Given the description of an element on the screen output the (x, y) to click on. 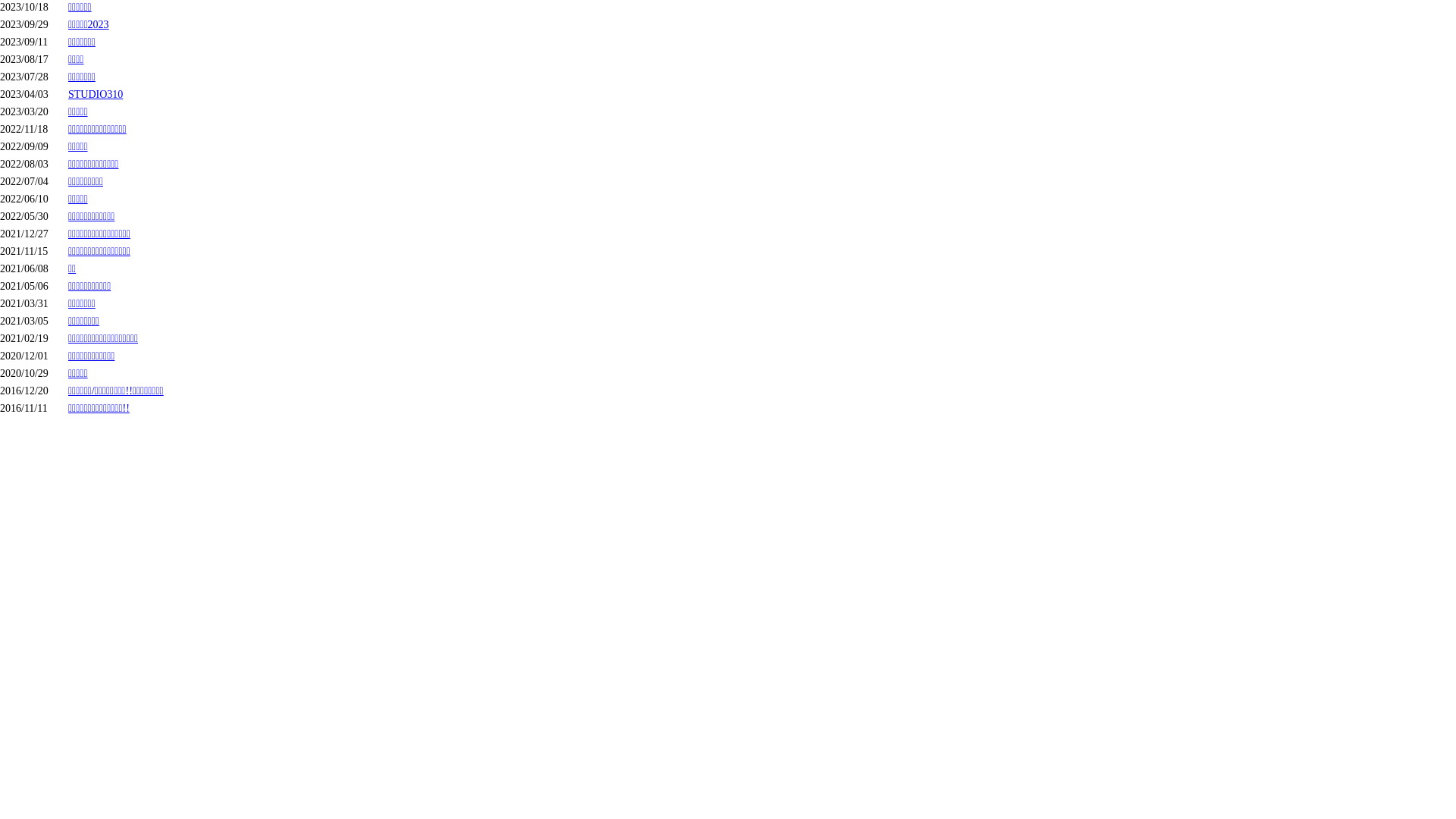
STUDIO310 Element type: text (95, 94)
